Given the description of an element on the screen output the (x, y) to click on. 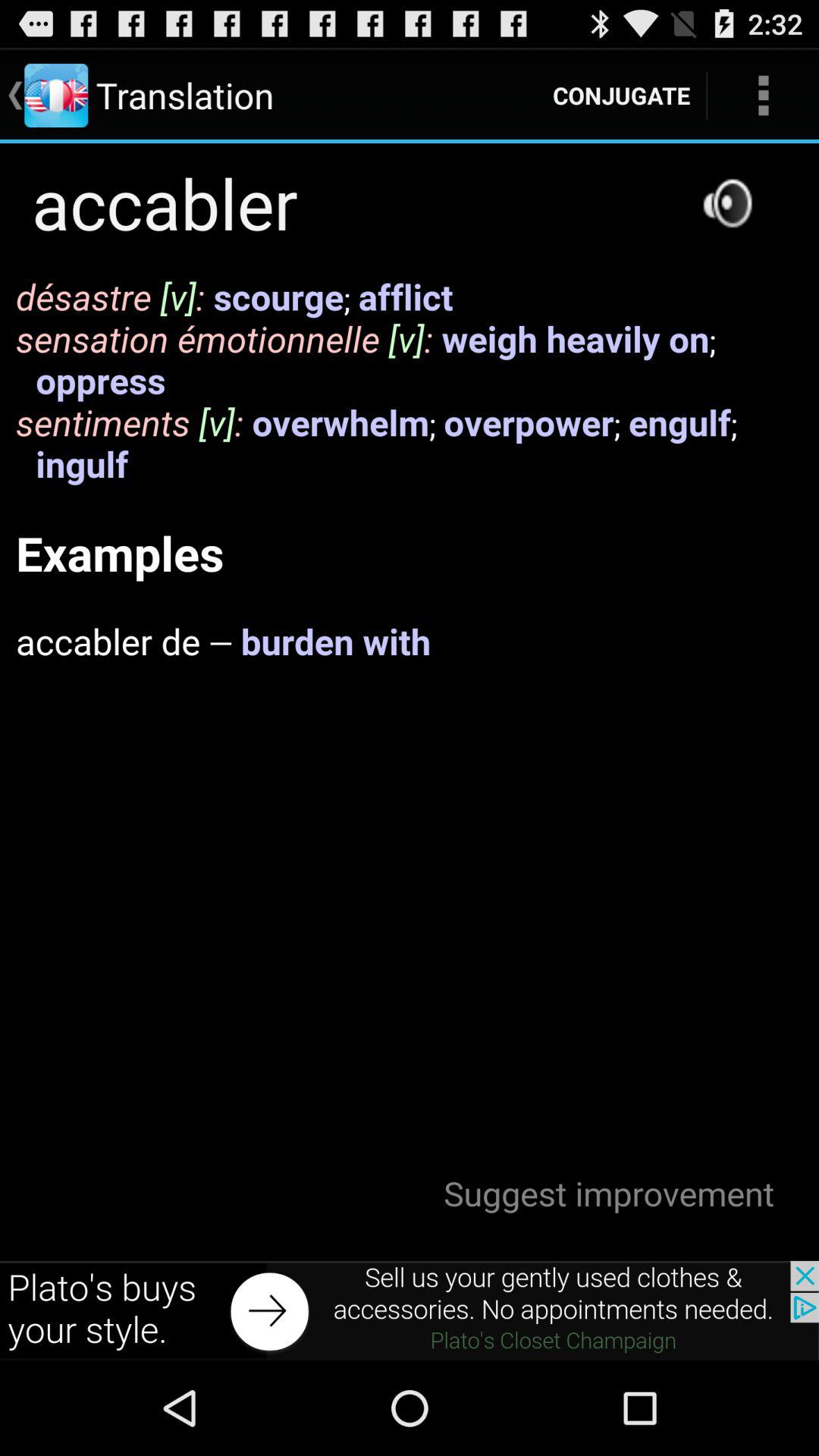
opens up advertisement (409, 1310)
